Given the description of an element on the screen output the (x, y) to click on. 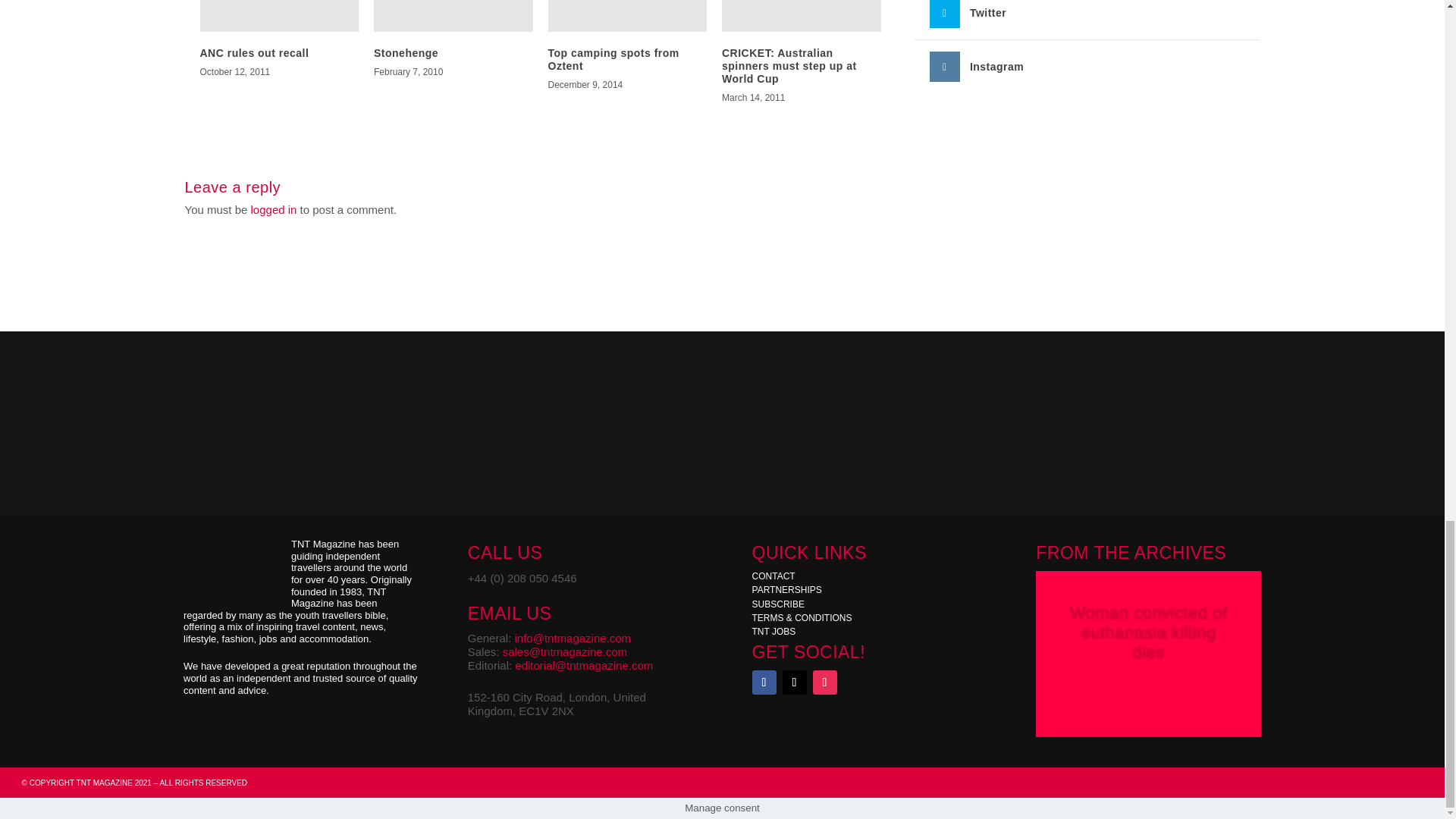
Stonehenge (406, 52)
Top camping spots from Oztent (612, 59)
CRICKET: Australian spinners must step up at World Cup (789, 65)
ANC rules out recall (254, 52)
